Given the description of an element on the screen output the (x, y) to click on. 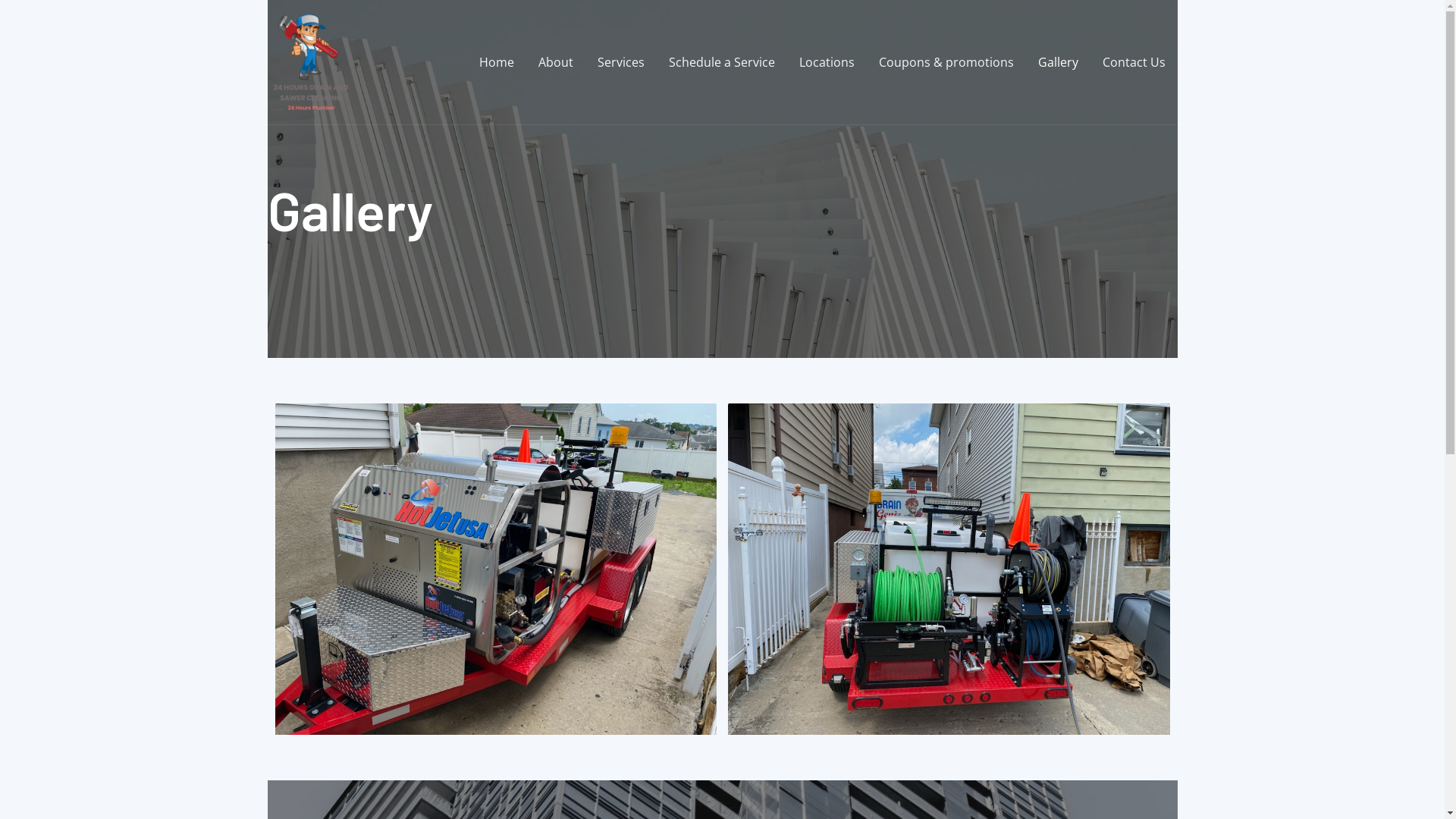
Gallery Element type: text (1057, 61)
Locations Element type: text (826, 61)
Home Element type: text (496, 61)
Services Element type: text (620, 61)
Schedule a Service Element type: text (721, 61)
Contact Us Element type: text (1133, 61)
Coupons & promotions Element type: text (945, 61)
About Element type: text (555, 61)
